Given the description of an element on the screen output the (x, y) to click on. 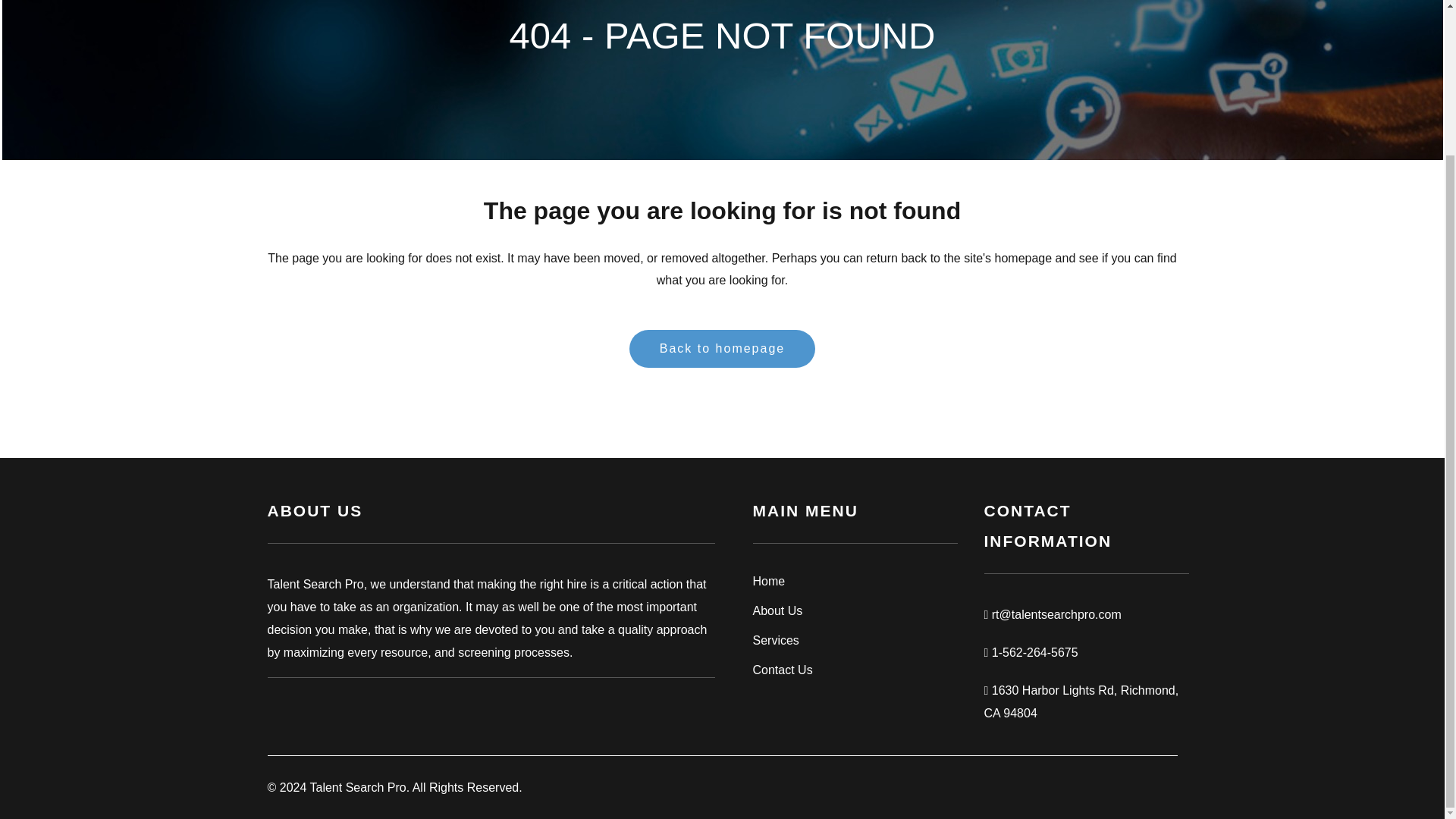
Contact Us (854, 669)
Back to homepage (721, 348)
About Us (854, 610)
Services (854, 640)
Home (854, 581)
